Given the description of an element on the screen output the (x, y) to click on. 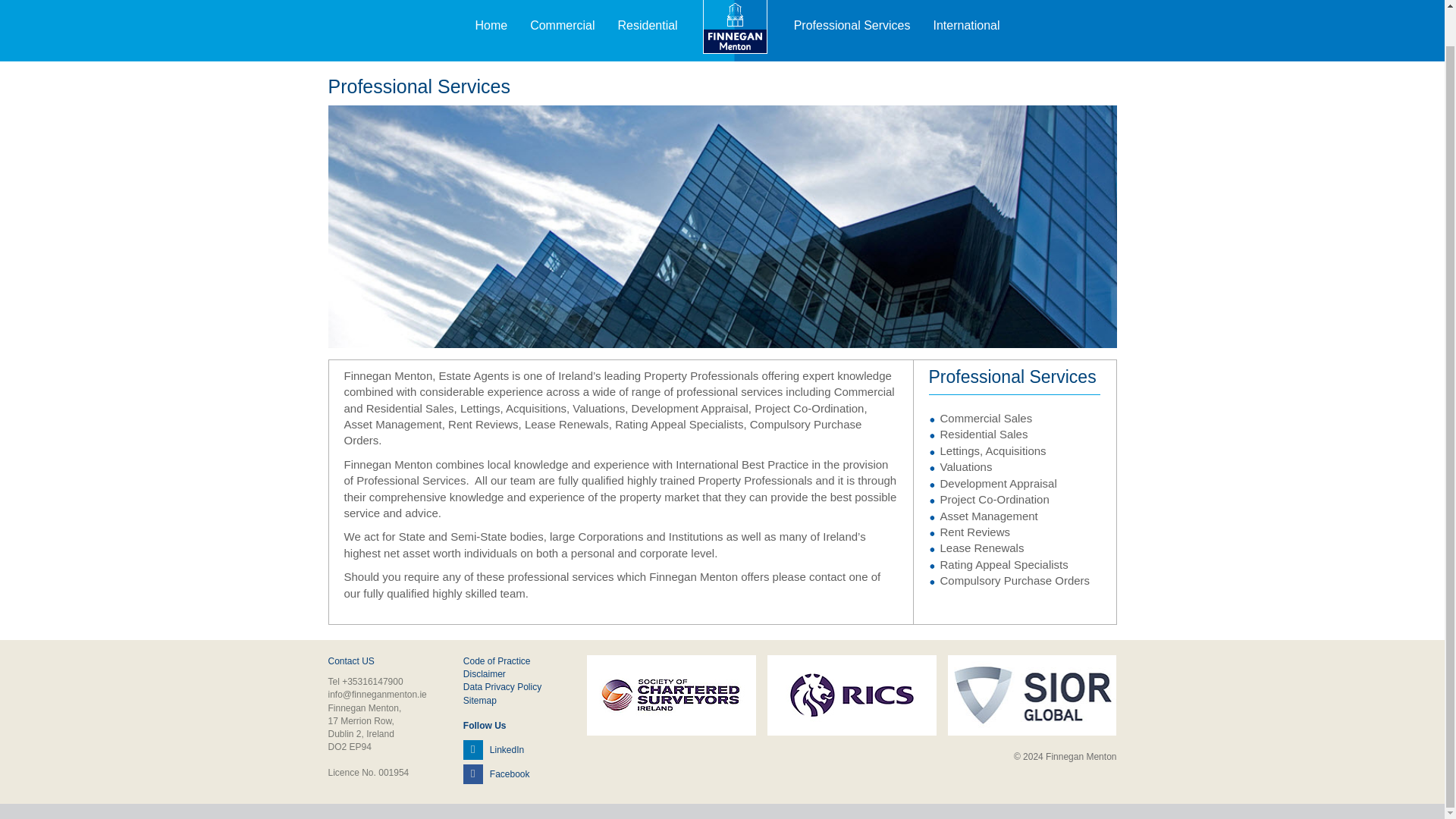
Code of Practice (497, 661)
Commercial (561, 24)
Data Privacy Policy (502, 686)
Sitemap (479, 700)
Home (490, 24)
Facebook (496, 773)
International (965, 24)
Disclaimer (484, 674)
Professional Services (852, 24)
LinkedIn (493, 748)
Residential (647, 24)
